Given the description of an element on the screen output the (x, y) to click on. 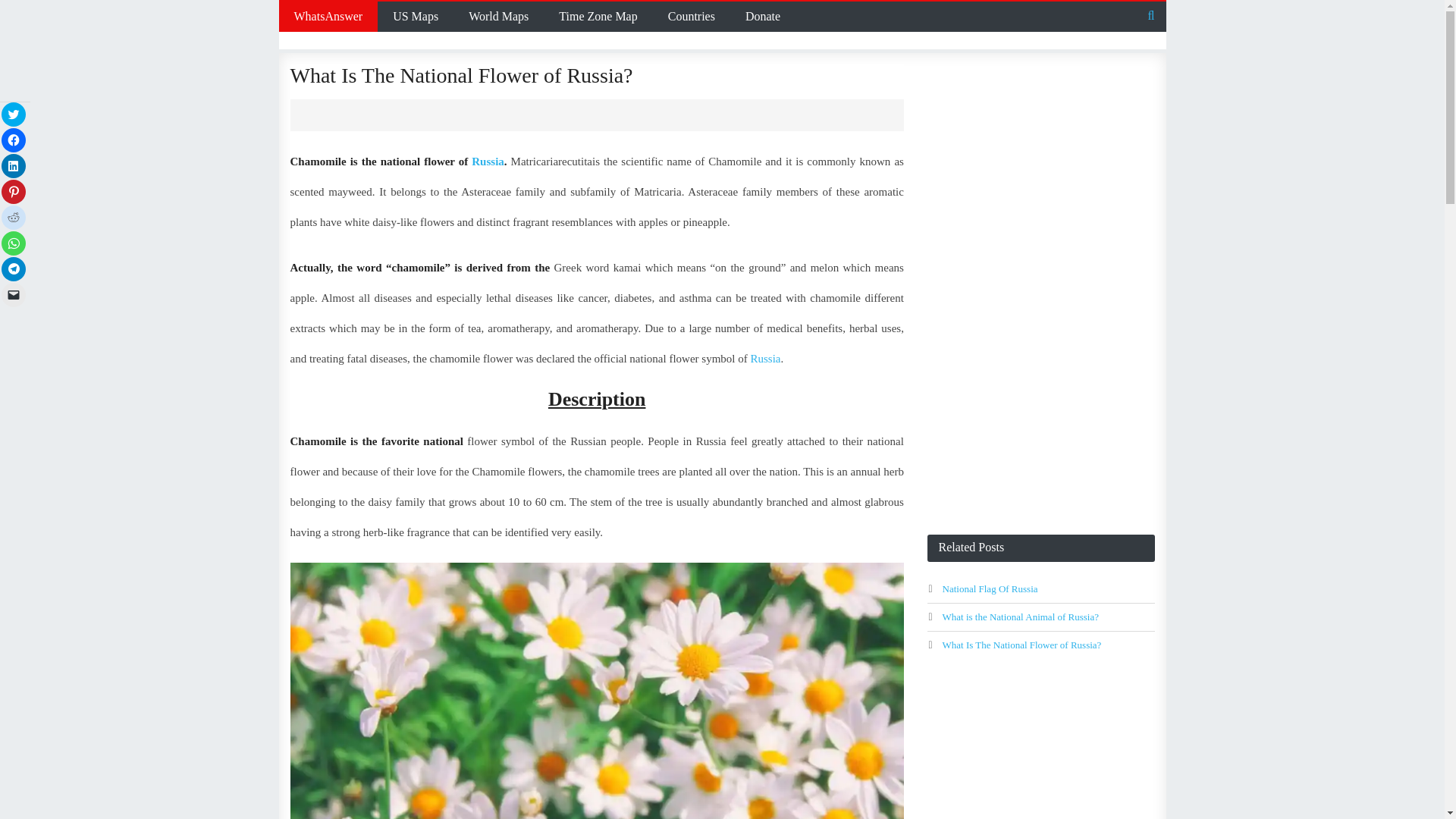
Time Zone Map (597, 16)
Click to share on Telegram (13, 269)
What is the National Animal of Russia? (1020, 616)
Click to share on LinkedIn (13, 165)
World Maps (497, 16)
Click to share on Reddit (13, 217)
Click to email a link to a friend (13, 294)
What Is The National Flower of Russia? (1021, 644)
National Flag Of Russia (989, 588)
Donate (762, 16)
Click to share on Pinterest (13, 191)
Click to share on WhatsApp (13, 242)
Click to share on Twitter (13, 114)
Click to share on Facebook (13, 139)
Countries (691, 16)
